Given the description of an element on the screen output the (x, y) to click on. 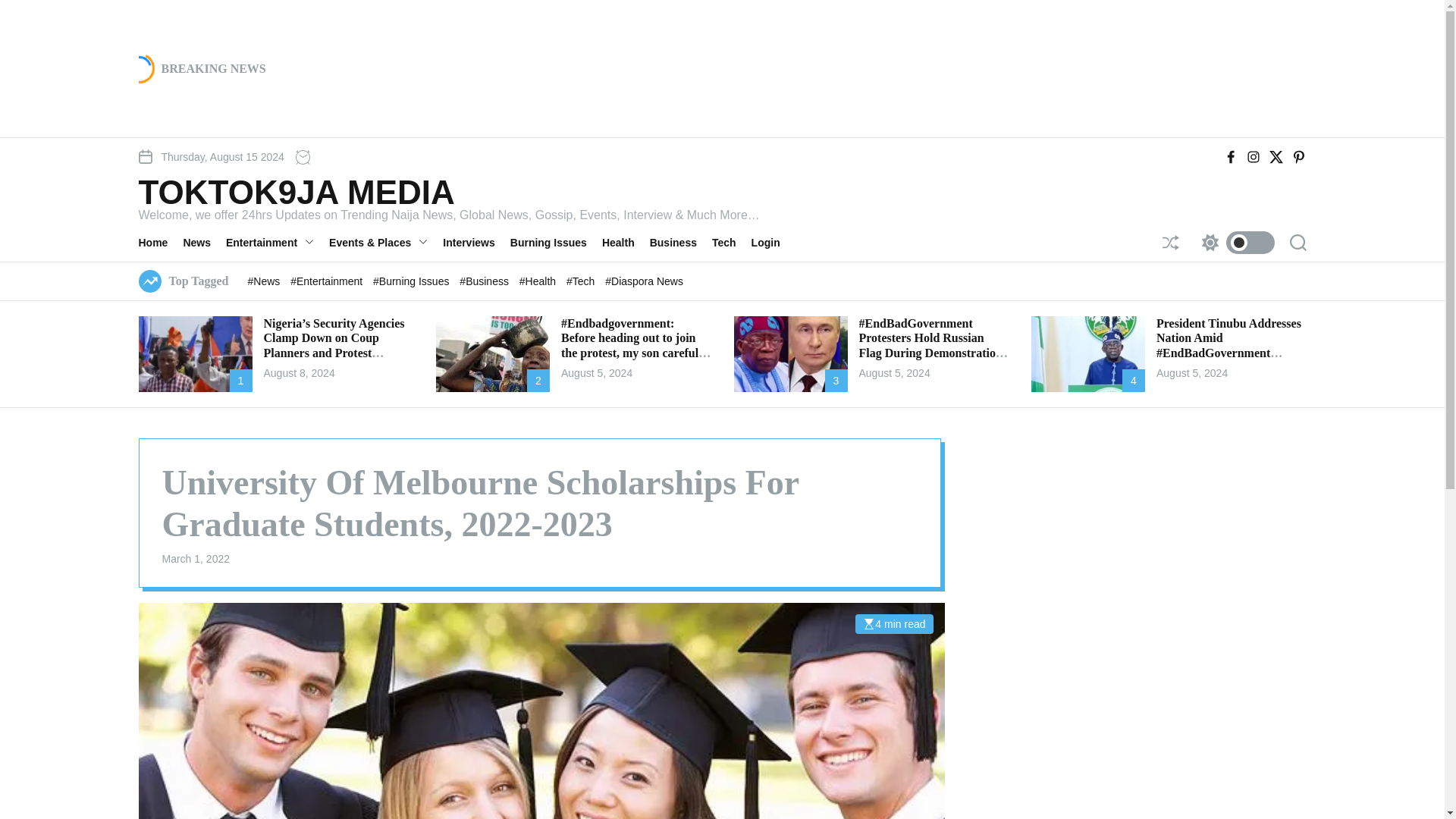
TOKTOK9JA MEDIA (448, 192)
Burning Issues (556, 242)
Tech (731, 242)
Pinterest (1298, 156)
Business (680, 242)
Health (625, 242)
Facebook (1230, 156)
Twitter (1275, 156)
Entertainment (277, 242)
Interviews (475, 242)
